Given the description of an element on the screen output the (x, y) to click on. 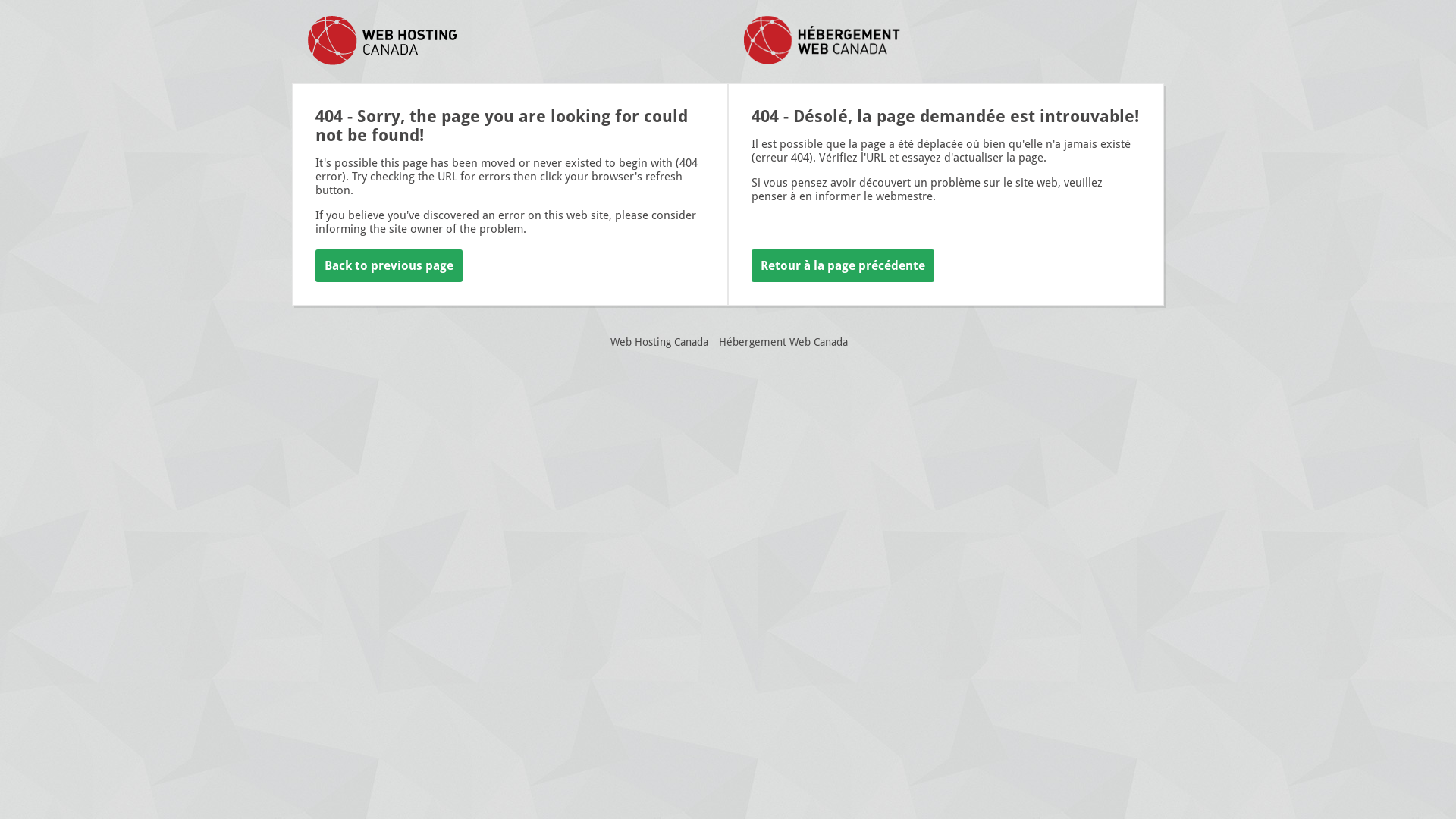
Web Hosting Canada Element type: text (659, 341)
Back to previous page Element type: text (388, 265)
